Given the description of an element on the screen output the (x, y) to click on. 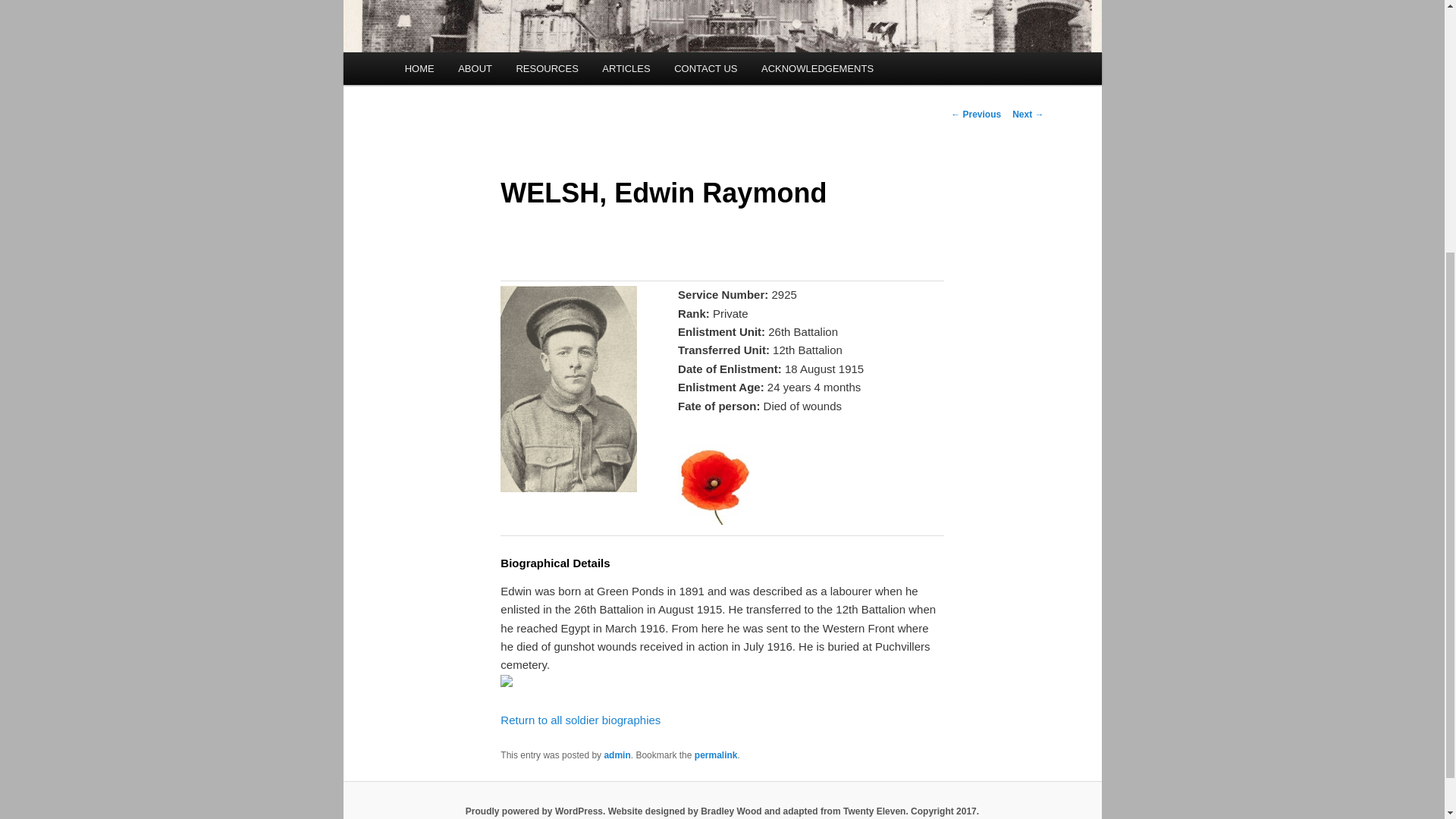
CONTACT US (705, 68)
RESOURCES (547, 68)
ARTICLES (626, 68)
HOME (419, 68)
Permalink to WELSH, Edwin Raymond (716, 755)
permalink (716, 755)
ABOUT (474, 68)
admin (617, 755)
